Given the description of an element on the screen output the (x, y) to click on. 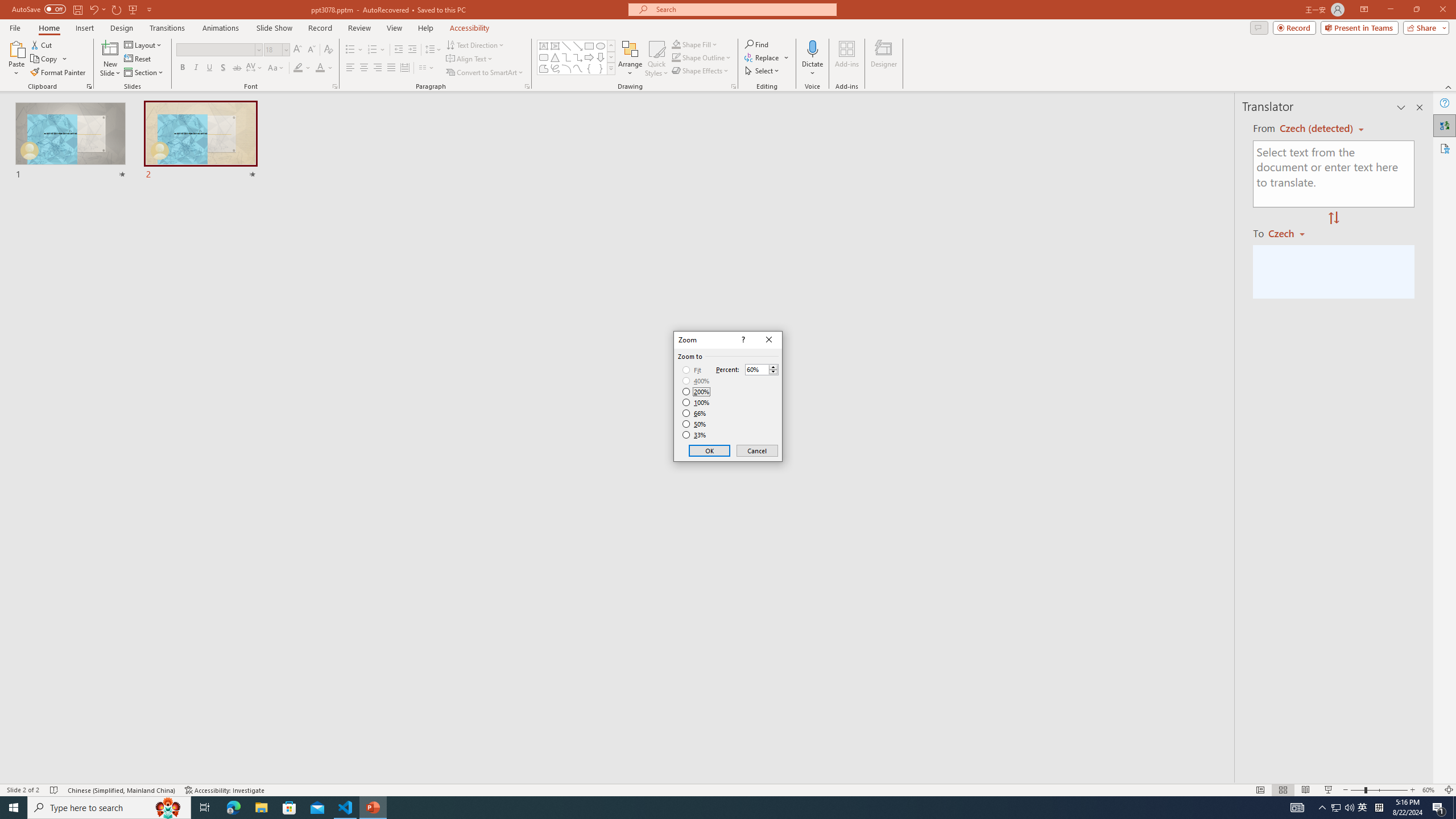
50% (694, 424)
